Given the description of an element on the screen output the (x, y) to click on. 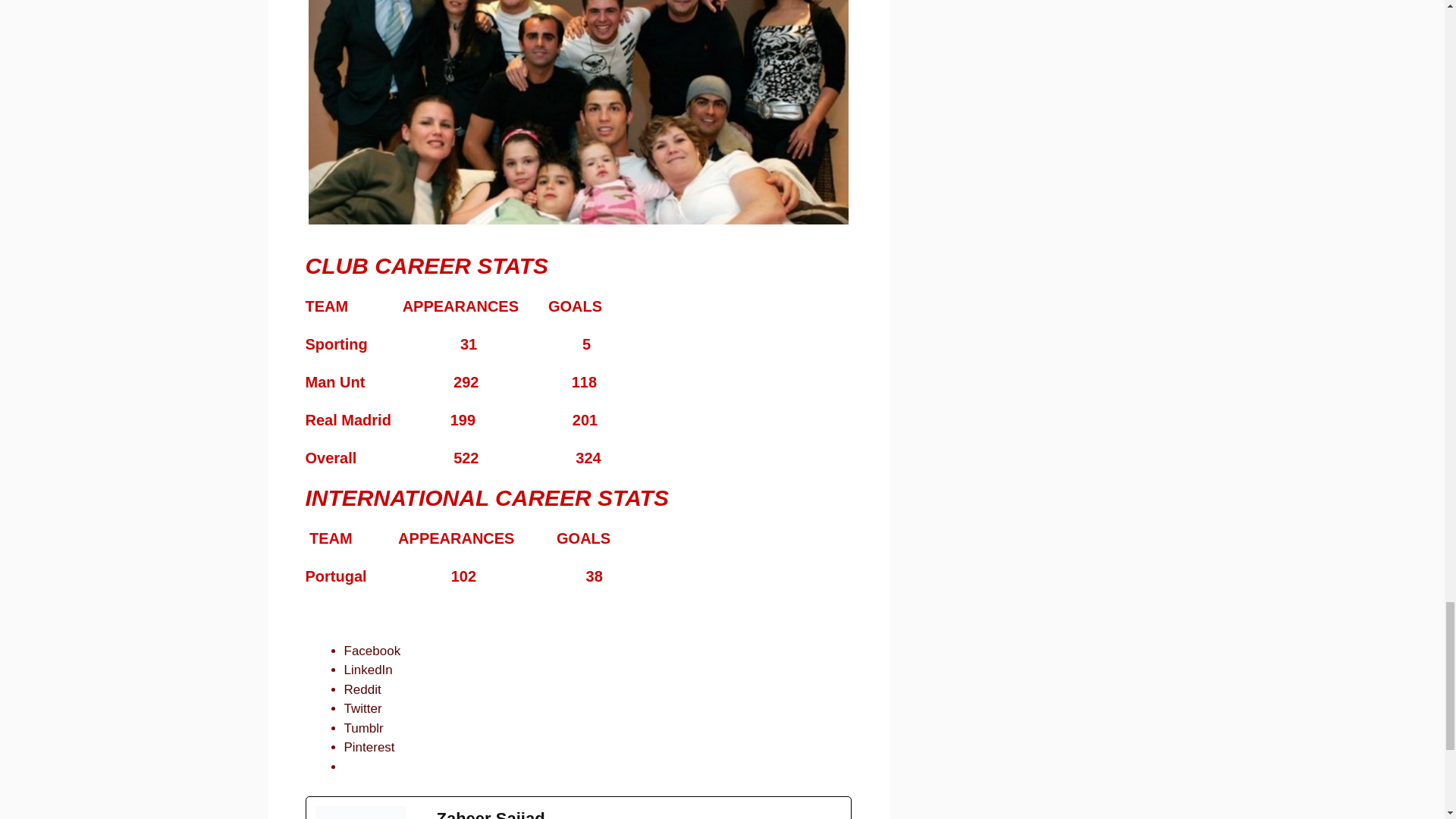
Pinterest (368, 747)
Facebook (372, 650)
Reddit (362, 689)
Click to share on Facebook (372, 650)
Click to share on Reddit (362, 689)
Twitter (362, 708)
Click to share on Twitter (362, 708)
Click to share on Tumblr (363, 728)
Click to share on LinkedIn (368, 669)
LinkedIn (368, 669)
Click to share on Pinterest (368, 747)
Tumblr (363, 728)
